Given the description of an element on the screen output the (x, y) to click on. 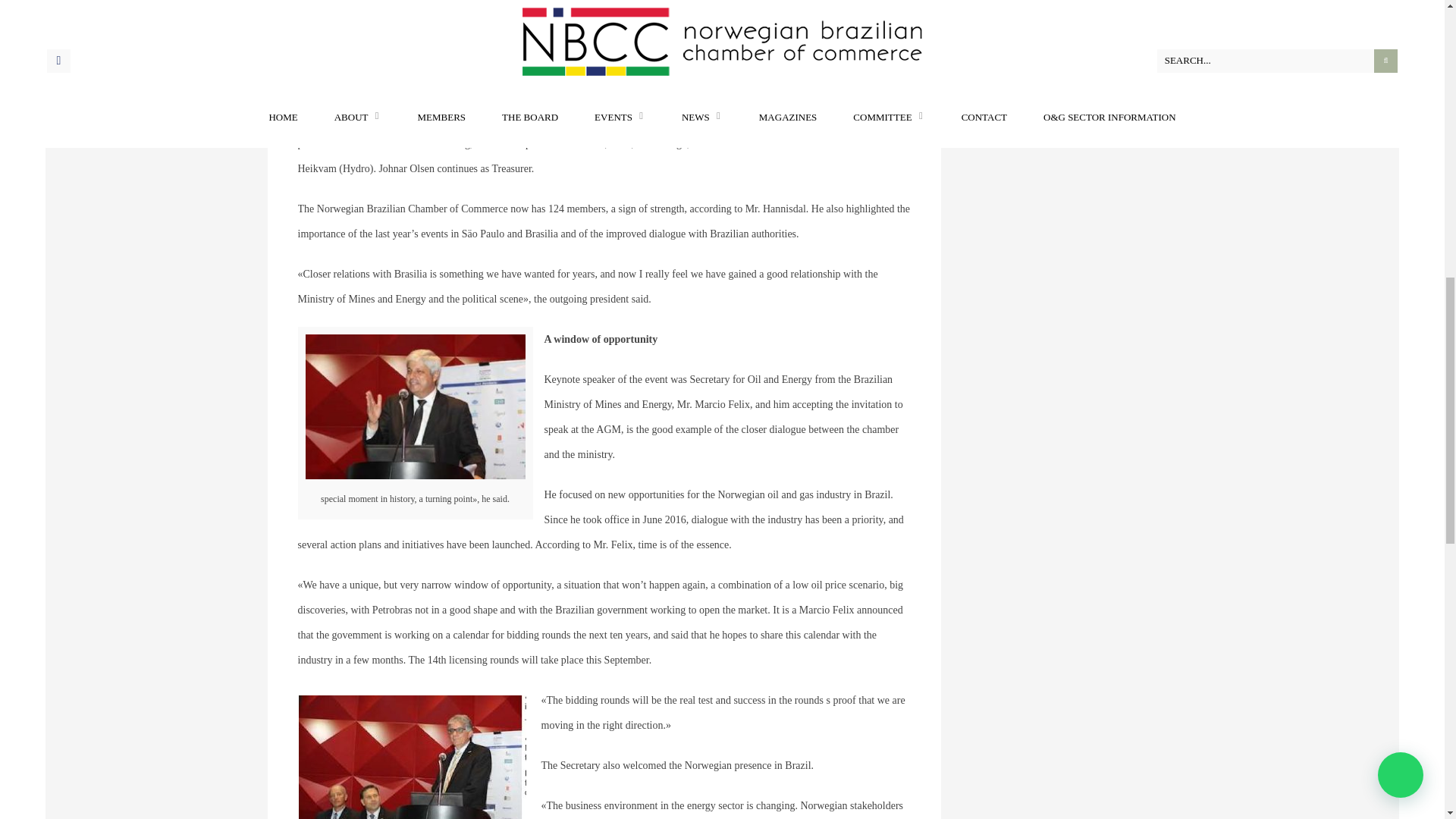
From the left: Rachid Felix and Marcio Felix (415, 43)
